Given the description of an element on the screen output the (x, y) to click on. 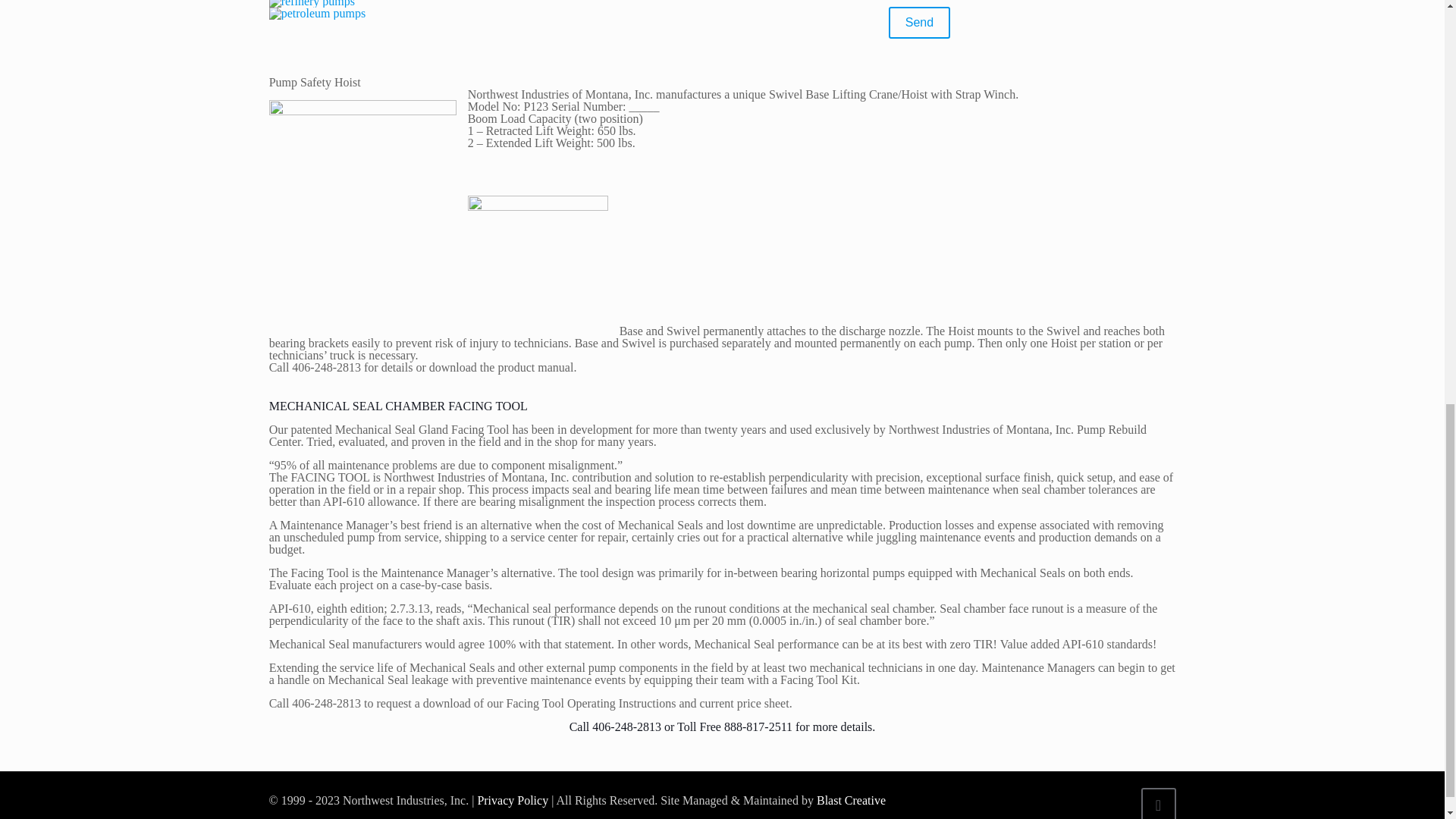
Send (919, 22)
Send (919, 22)
Blast Creative (850, 799)
888-817-2511 (757, 726)
Privacy Policy (511, 799)
406-248-2813 (626, 726)
